Given the description of an element on the screen output the (x, y) to click on. 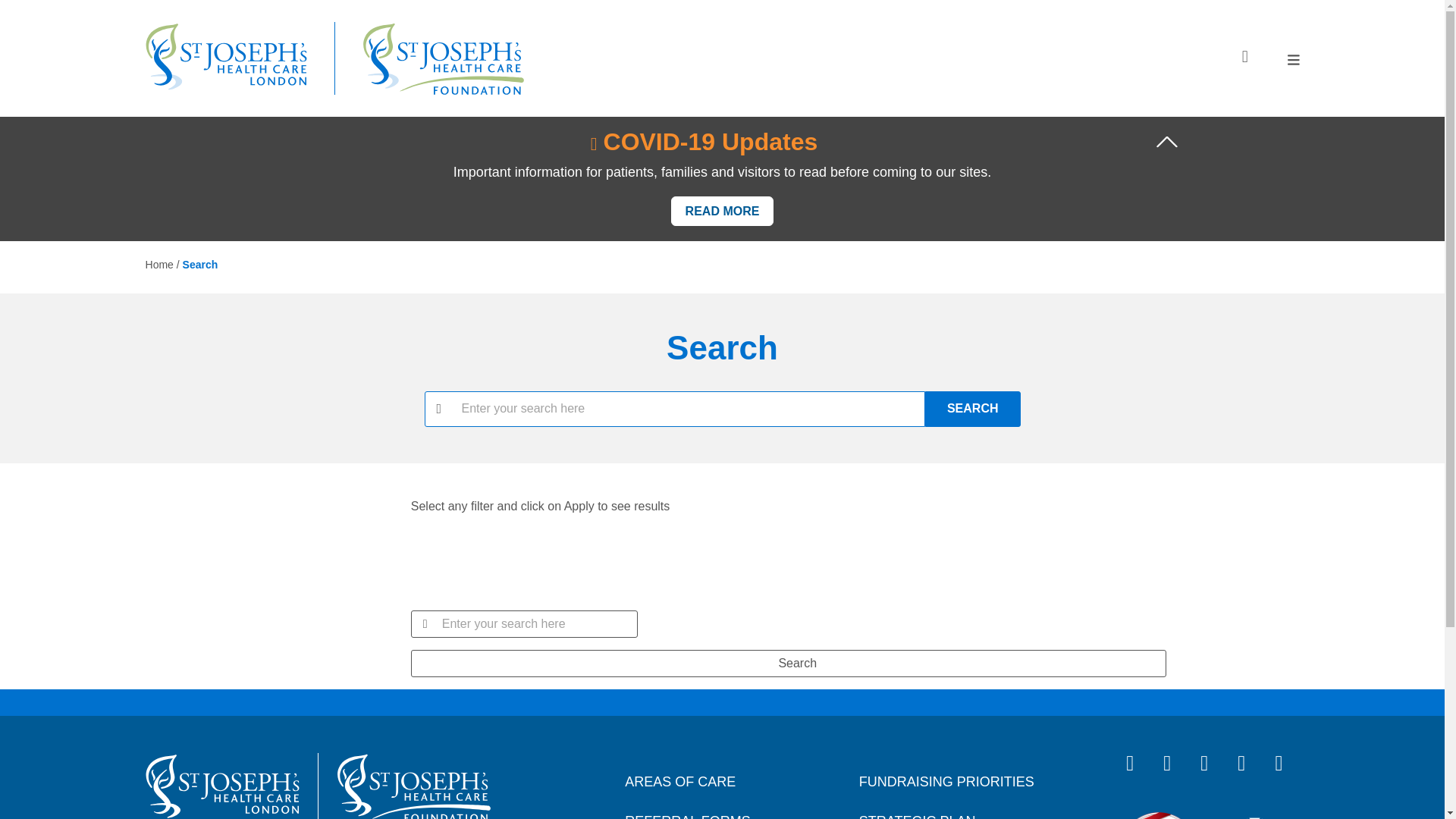
Home (226, 58)
referral forms (1188, 537)
STUDENT AFFAIRS (1188, 175)
VOLUNTEERS (1188, 220)
St. Joseph's Health Care London Facebook page (1137, 763)
CAREERS (1188, 129)
REFERRAL FORMS (1188, 537)
READ MORE (722, 211)
NEWS AND MEDIA (1188, 267)
Search (788, 663)
Search (972, 408)
OUR LOCATIONS (1188, 358)
MAKE A DONATION (1188, 476)
Home (222, 785)
